Given the description of an element on the screen output the (x, y) to click on. 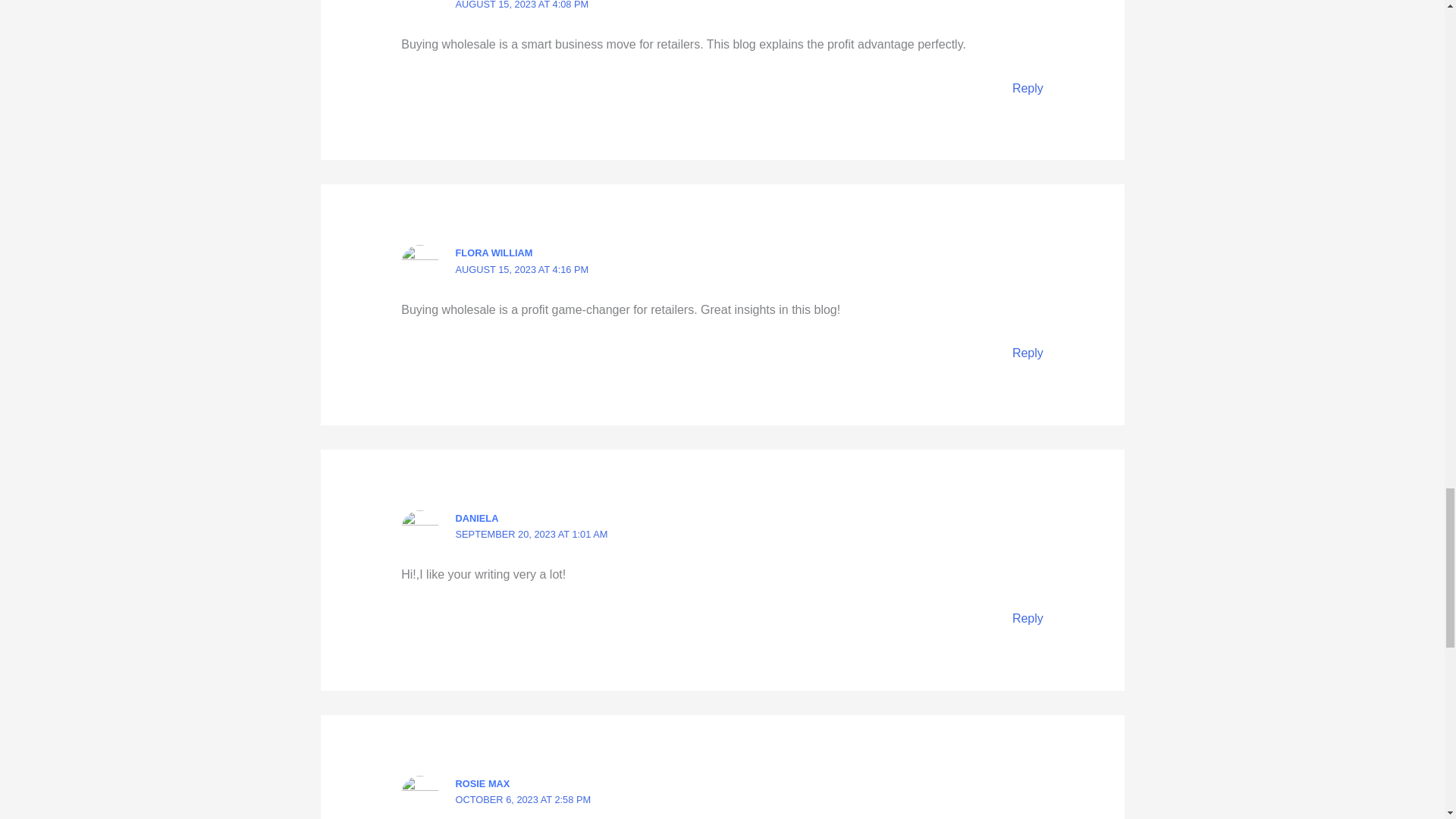
OCTOBER 6, 2023 AT 2:58 PM (523, 799)
Reply (1027, 617)
Reply (1027, 88)
Reply (1027, 352)
AUGUST 15, 2023 AT 4:08 PM (522, 4)
AUGUST 15, 2023 AT 4:16 PM (522, 269)
SEPTEMBER 20, 2023 AT 1:01 AM (531, 533)
